Given the description of an element on the screen output the (x, y) to click on. 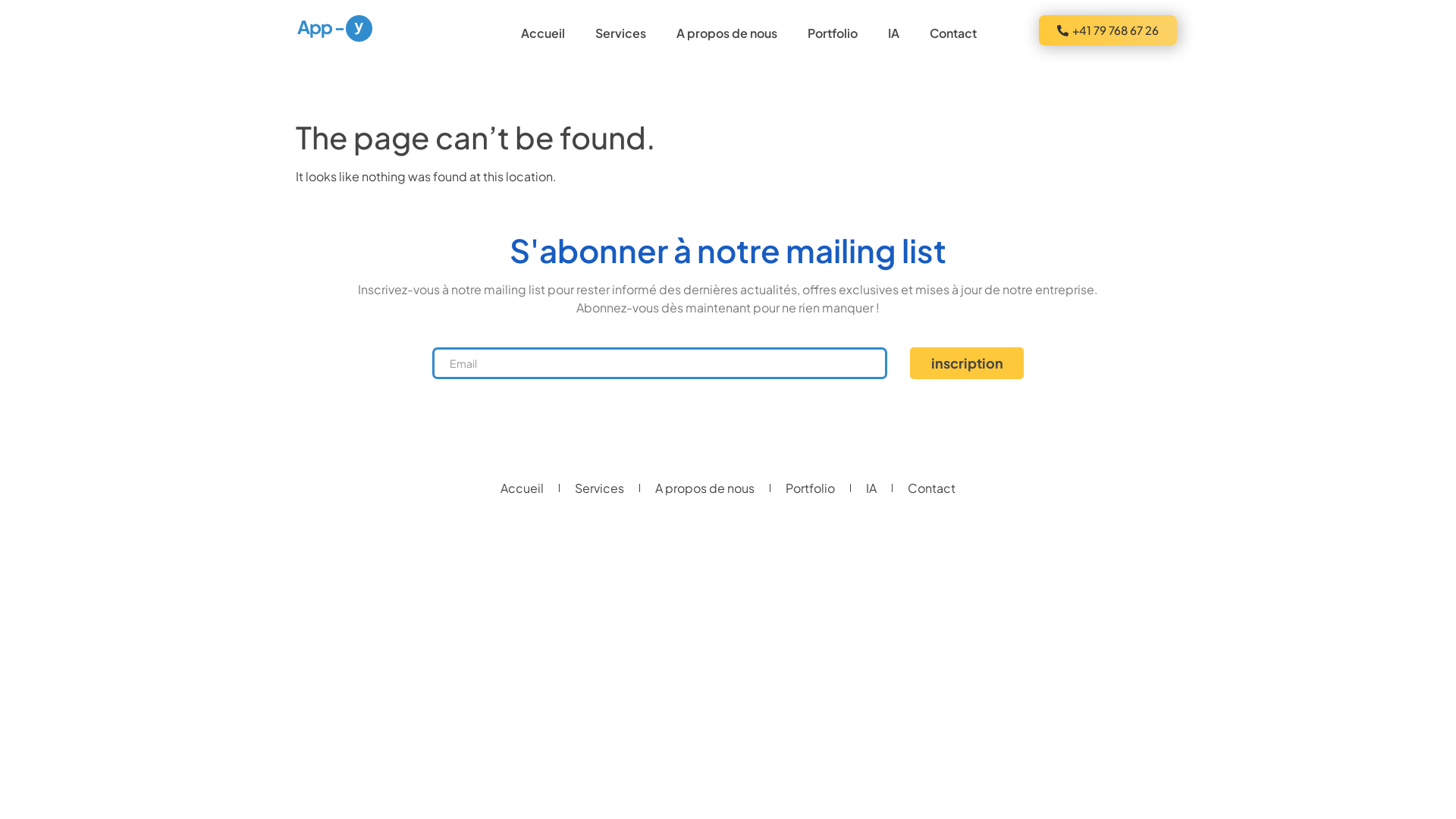
+41 79 768 67 26 Element type: text (1107, 30)
Portfolio Element type: text (810, 487)
Accueil Element type: text (542, 32)
Contact Element type: text (931, 487)
Services Element type: text (620, 32)
IA Element type: text (893, 32)
Accueil Element type: text (521, 487)
IA Element type: text (870, 487)
Contact Element type: text (952, 32)
A propos de nous Element type: text (704, 487)
Portfolio Element type: text (832, 32)
Services Element type: text (599, 487)
inscription Element type: text (966, 363)
A propos de nous Element type: text (726, 32)
